Given the description of an element on the screen output the (x, y) to click on. 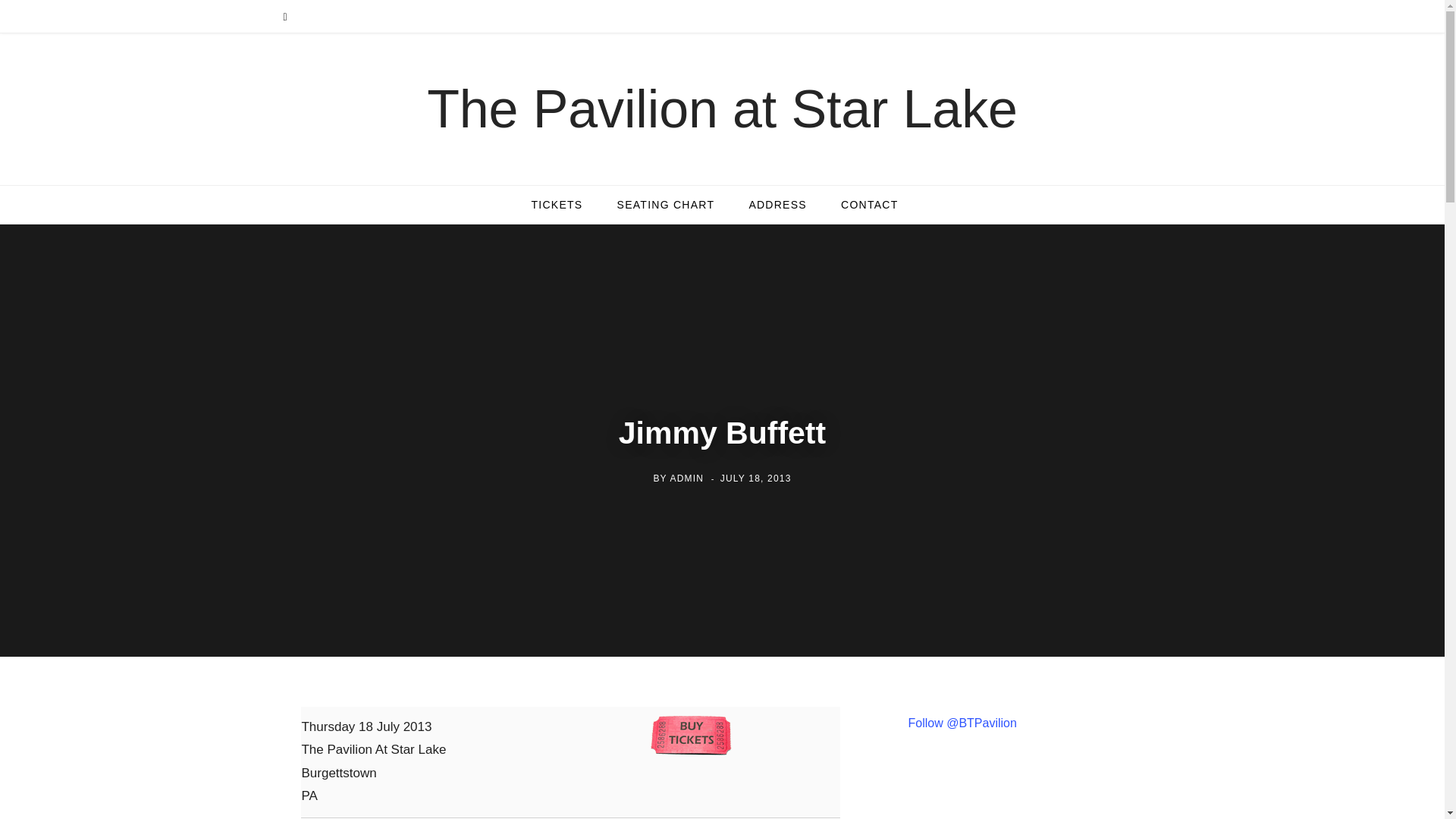
Posts by admin (686, 479)
TICKETS (555, 204)
SEATING CHART (666, 204)
The Pavilion at Star Lake (721, 108)
The Pavilion at Star Lake Address (777, 204)
Advertisement (1037, 795)
The Pavilion at Star Lake Seating Chart (666, 204)
CONTACT (868, 204)
The Pavilion at Star Lake (721, 108)
The Pavilion at Star Lake Tickets (555, 204)
ADMIN (686, 479)
ADDRESS (777, 204)
The Pavilion at Star Lake Contact (868, 204)
